Given the description of an element on the screen output the (x, y) to click on. 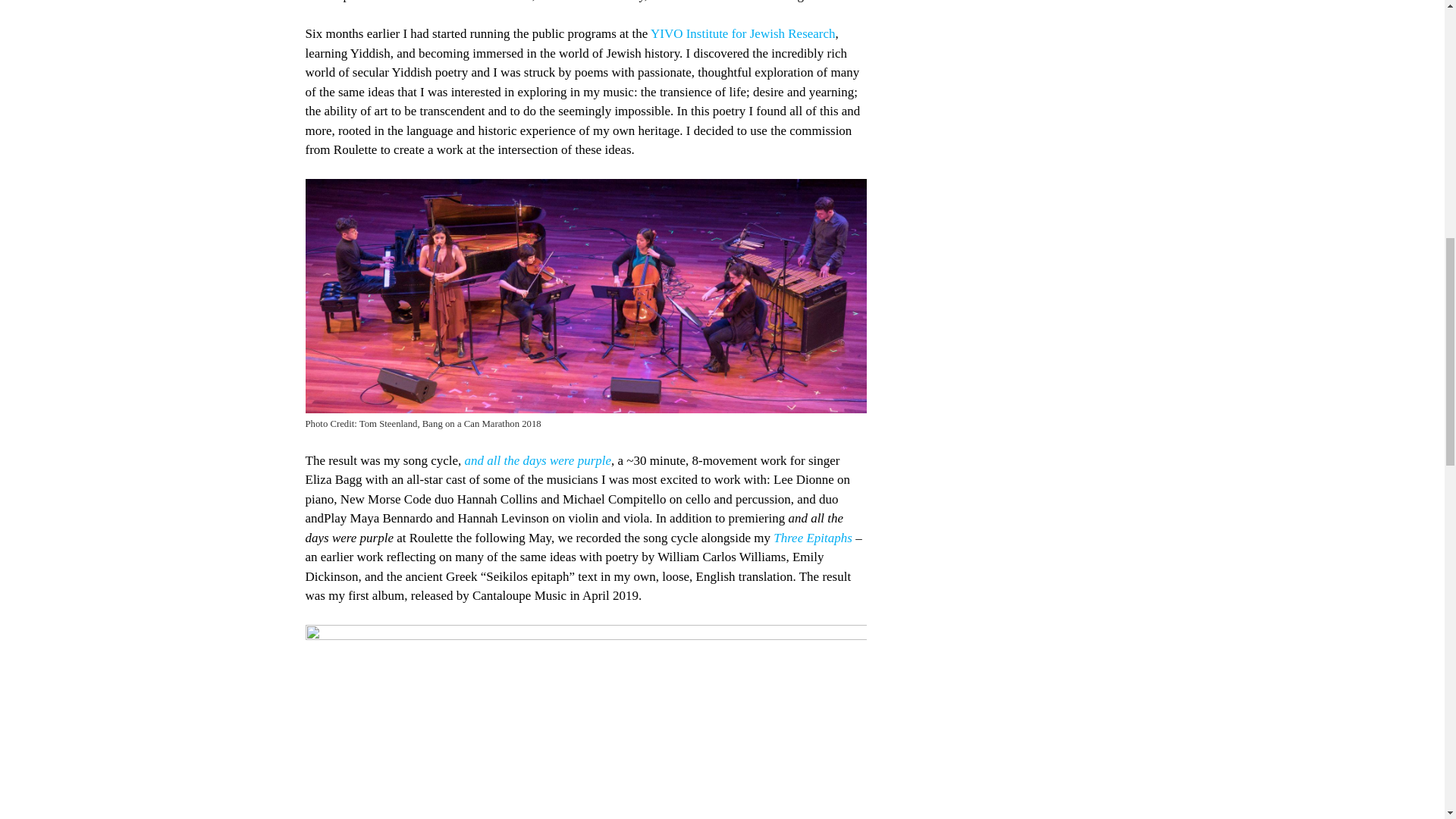
Three Epitaphs (812, 537)
YIVO Institute for Jewish Research (742, 33)
and all the days were purple (537, 460)
